Given the description of an element on the screen output the (x, y) to click on. 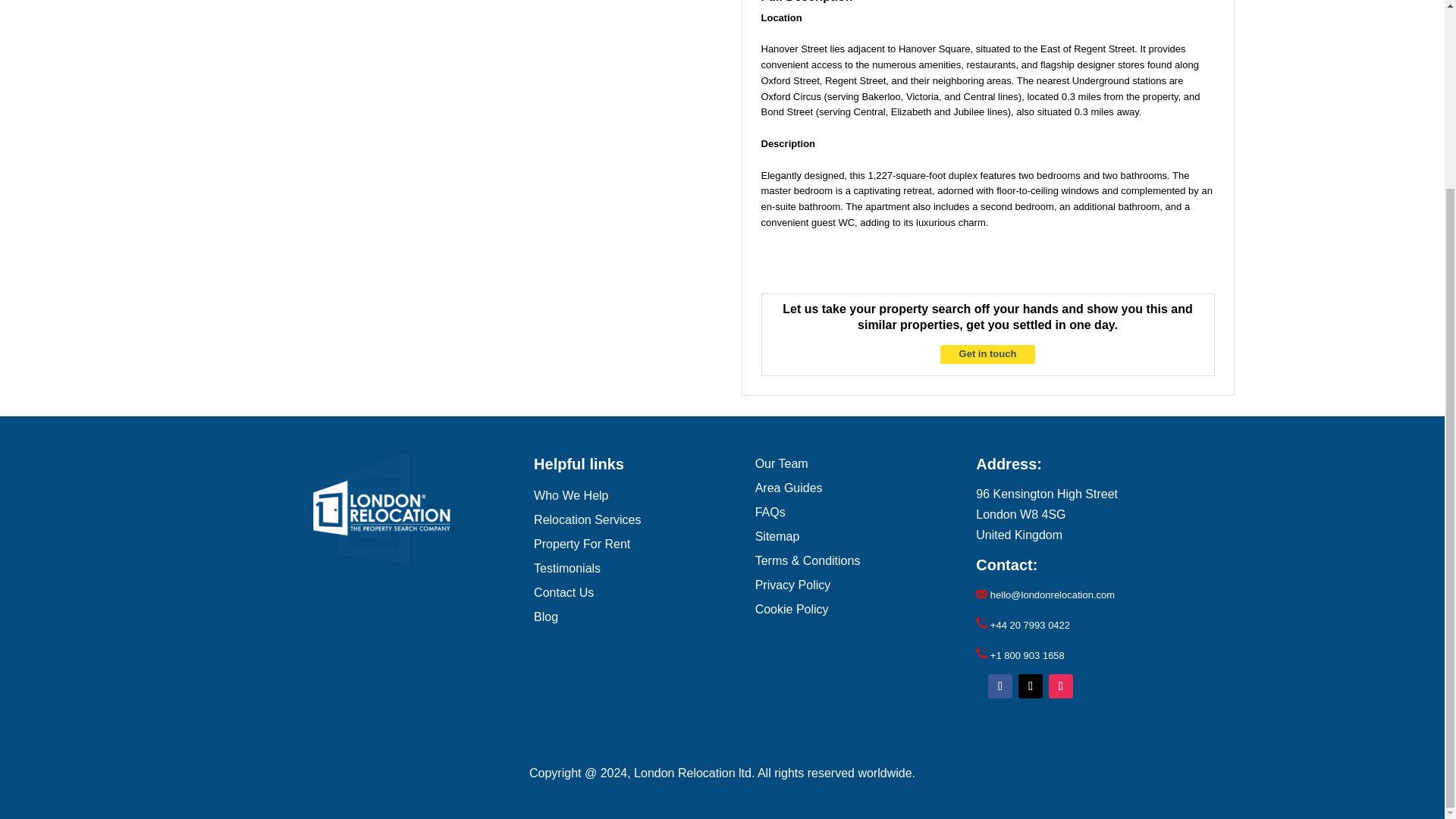
Follow on X (1029, 686)
Follow on Instagram (1060, 686)
Follow on Facebook (999, 686)
footer-logo (381, 508)
